Given the description of an element on the screen output the (x, y) to click on. 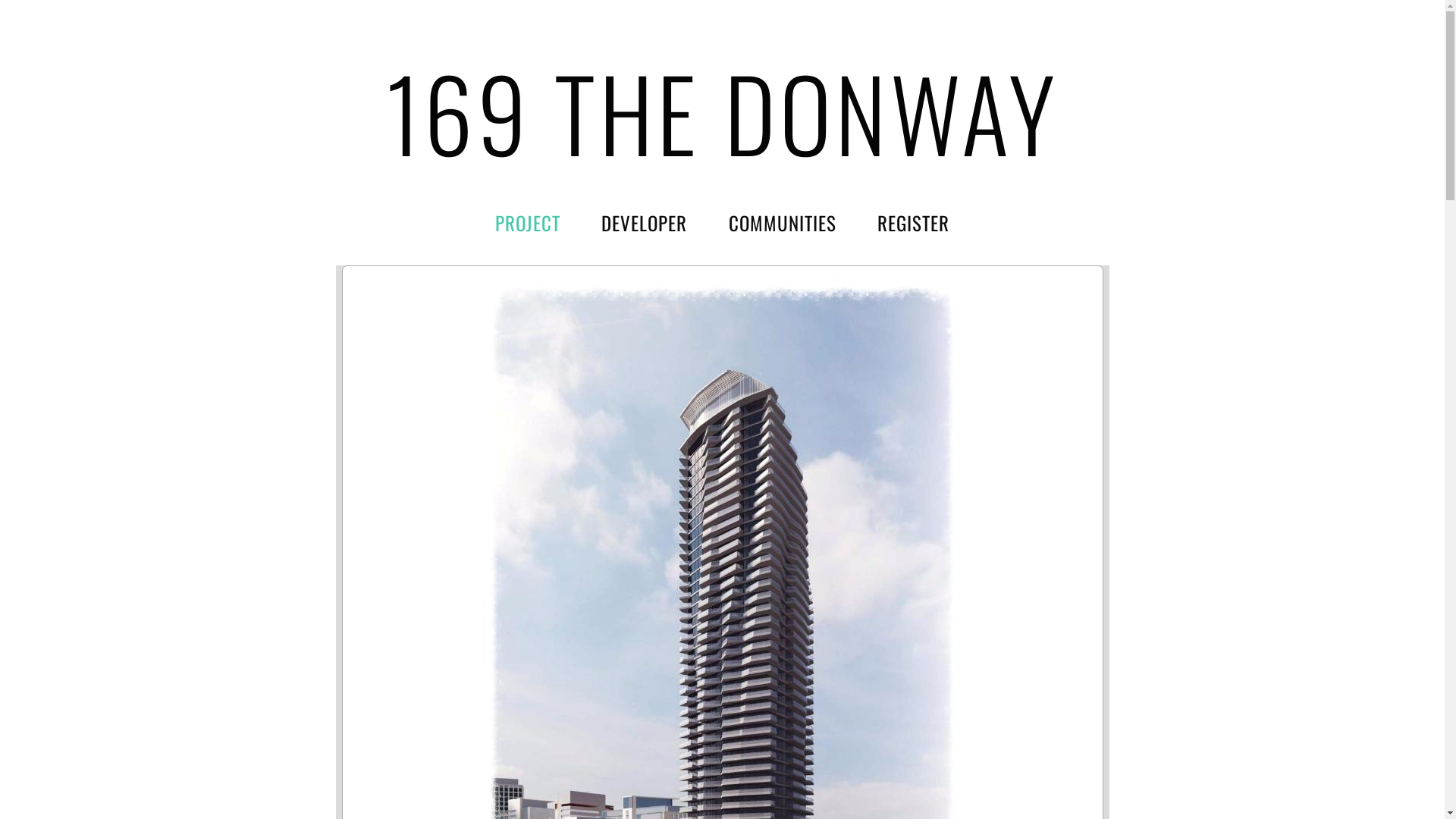
COMMUNITIES Element type: text (782, 222)
PROJECT Element type: text (527, 222)
169 THE DONWAY Element type: text (721, 111)
DEVELOPER Element type: text (644, 222)
REGISTER Element type: text (913, 222)
